Given the description of an element on the screen output the (x, y) to click on. 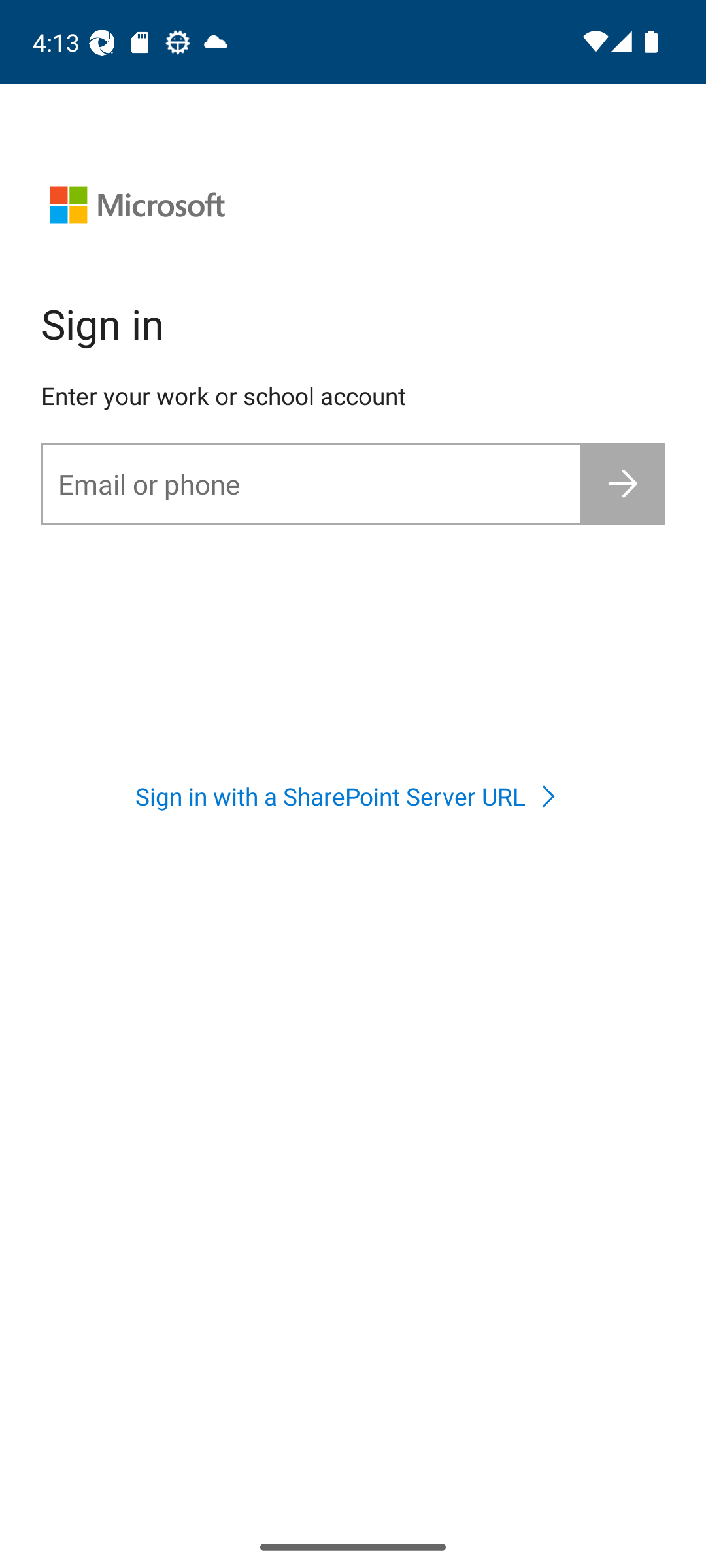
Email or phone (311, 483)
Next (623, 483)
Sign in with a SharePoint Server URL (352, 796)
